Given the description of an element on the screen output the (x, y) to click on. 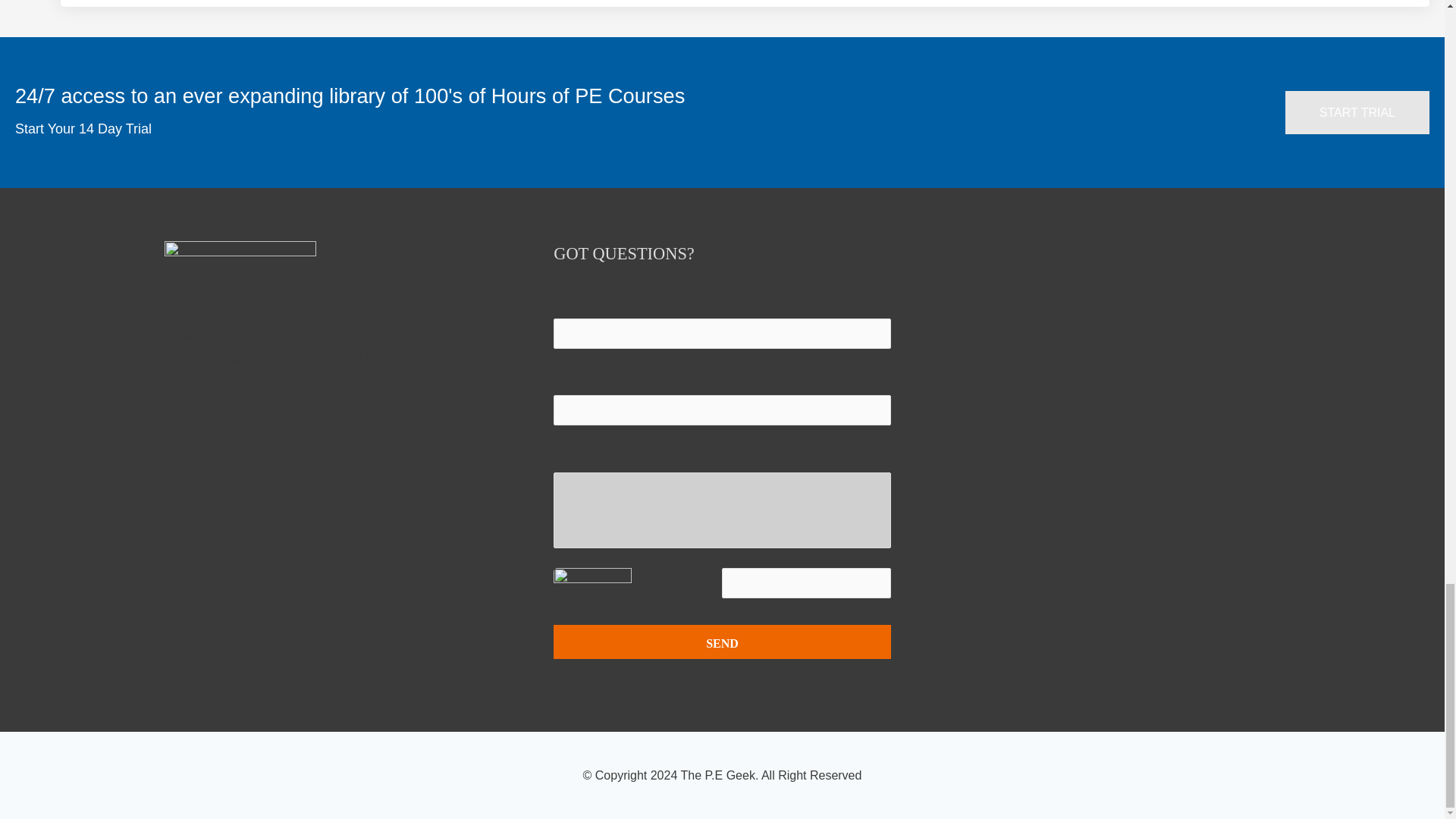
START TRIAL (1357, 112)
Send (721, 641)
Send (721, 641)
